Given the description of an element on the screen output the (x, y) to click on. 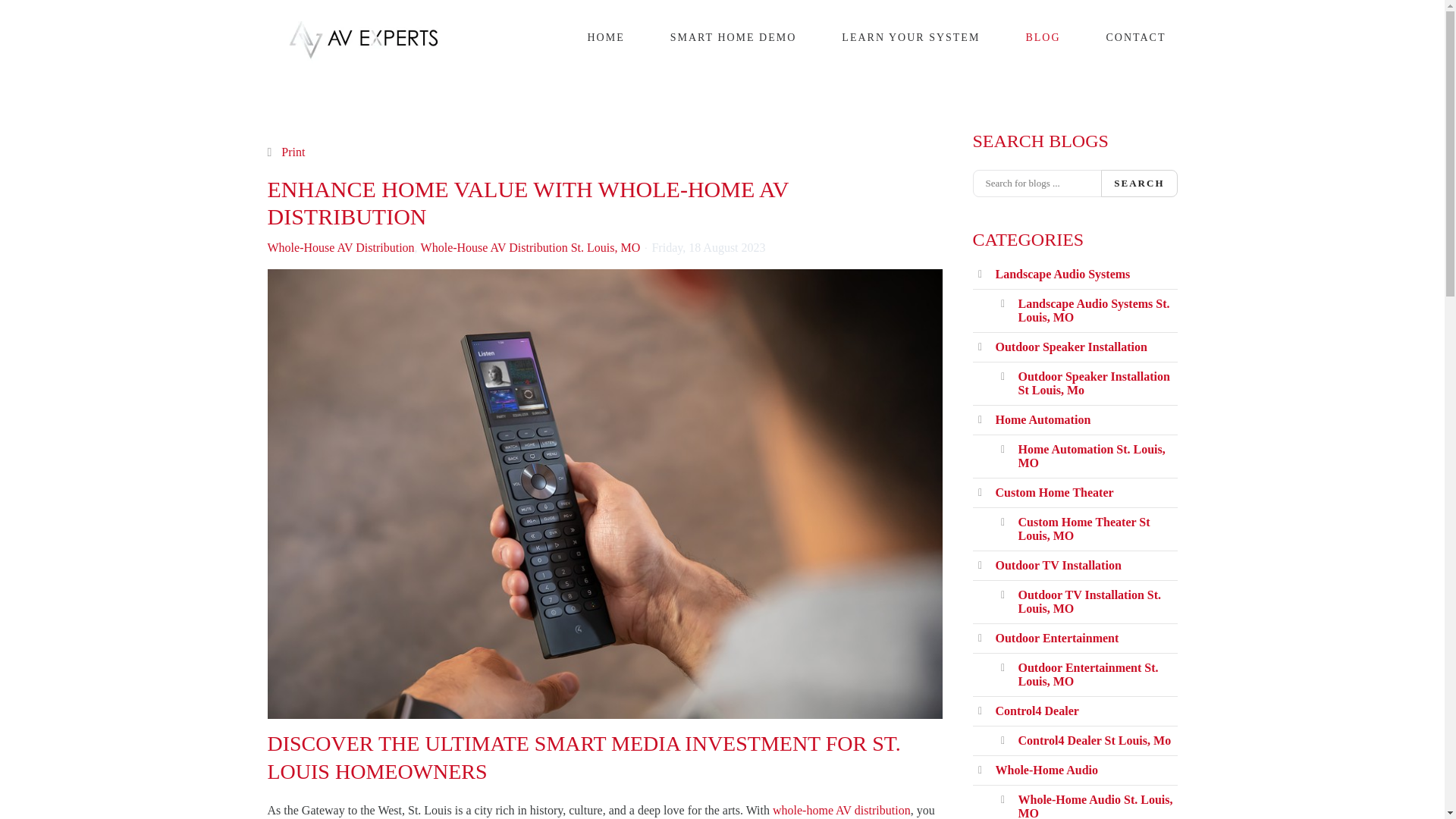
Landscape Audio Systems (1061, 273)
BLOG (1042, 37)
Print (292, 151)
Home Automation (1042, 419)
SMART HOME DEMO (733, 37)
Print (292, 151)
Whole-House AV Distribution (339, 247)
Landscape Audio Systems St. Louis, MO (1093, 310)
Outdoor TV Installation St. Louis, MO (1088, 601)
Outdoor TV Installation (1057, 564)
LEARN YOUR SYSTEM (910, 37)
HOME (606, 37)
whole-home AV distribution (842, 809)
Home Automation St. Louis, MO (1090, 456)
Custom Home Theater (1053, 492)
